Given the description of an element on the screen output the (x, y) to click on. 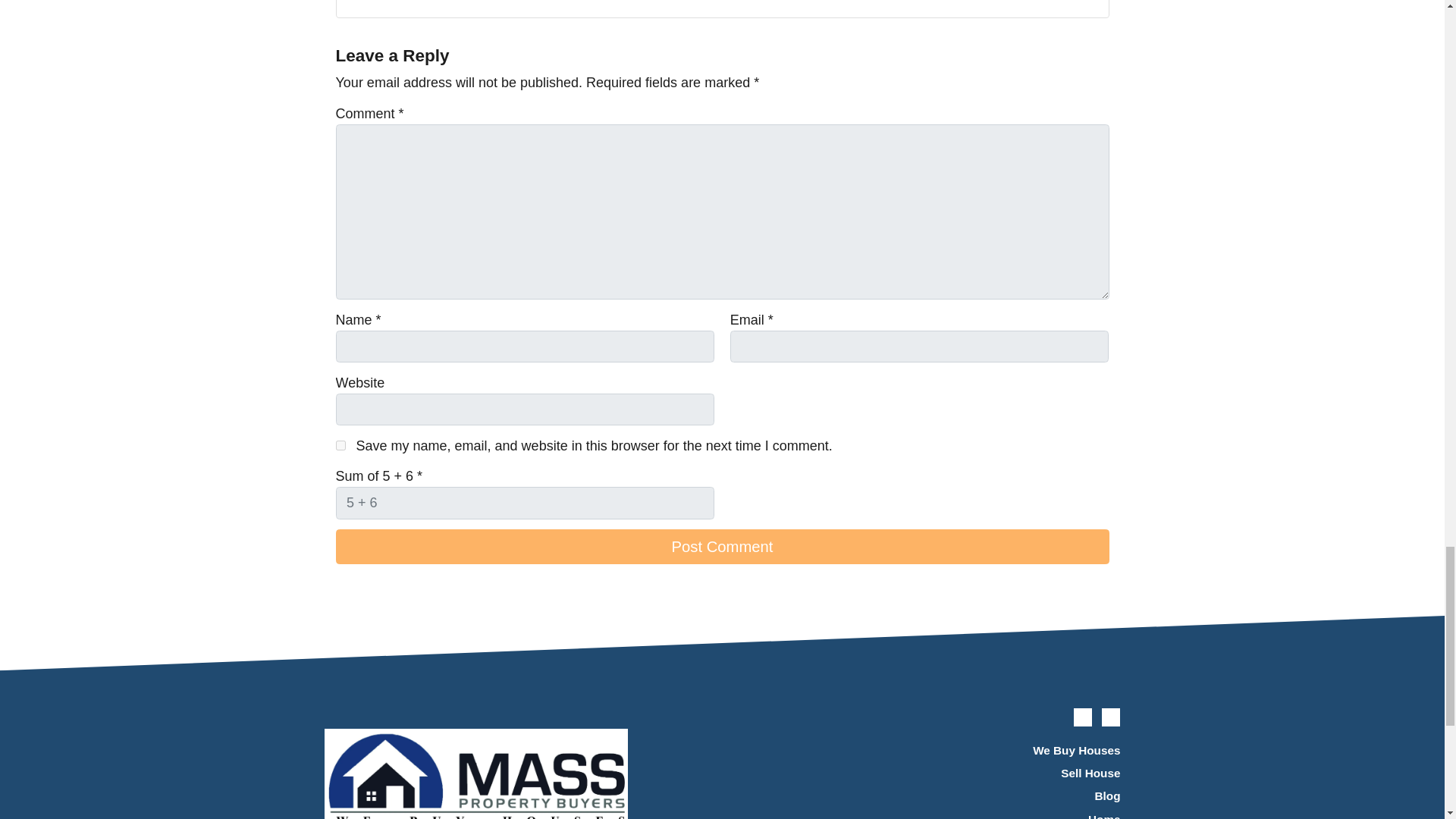
We Buy Houses (995, 751)
Post Comment (721, 546)
yes (339, 445)
Home (995, 813)
Blog (995, 796)
Facebook (1110, 717)
Sell House (995, 773)
Post Comment (721, 546)
Twitter (1083, 717)
